Given the description of an element on the screen output the (x, y) to click on. 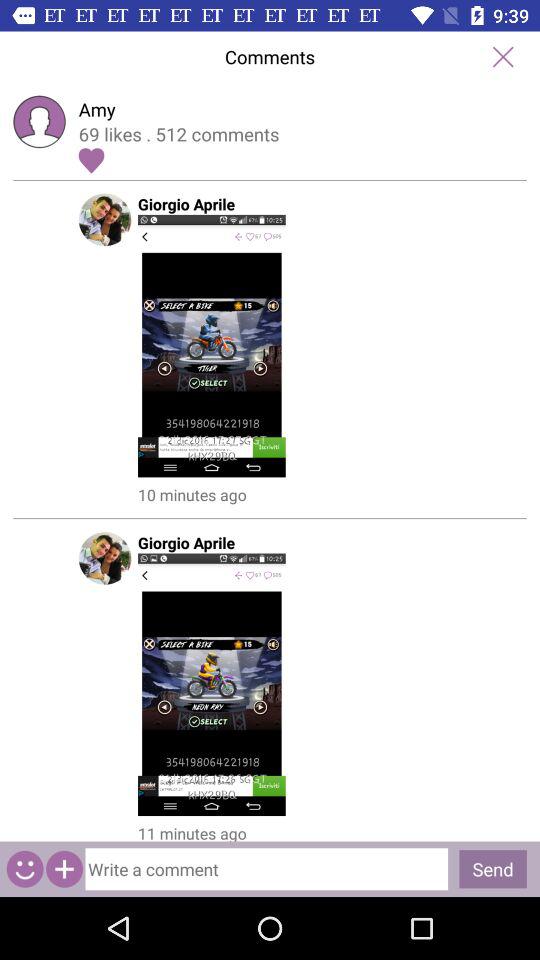
write a comment (266, 869)
